Given the description of an element on the screen output the (x, y) to click on. 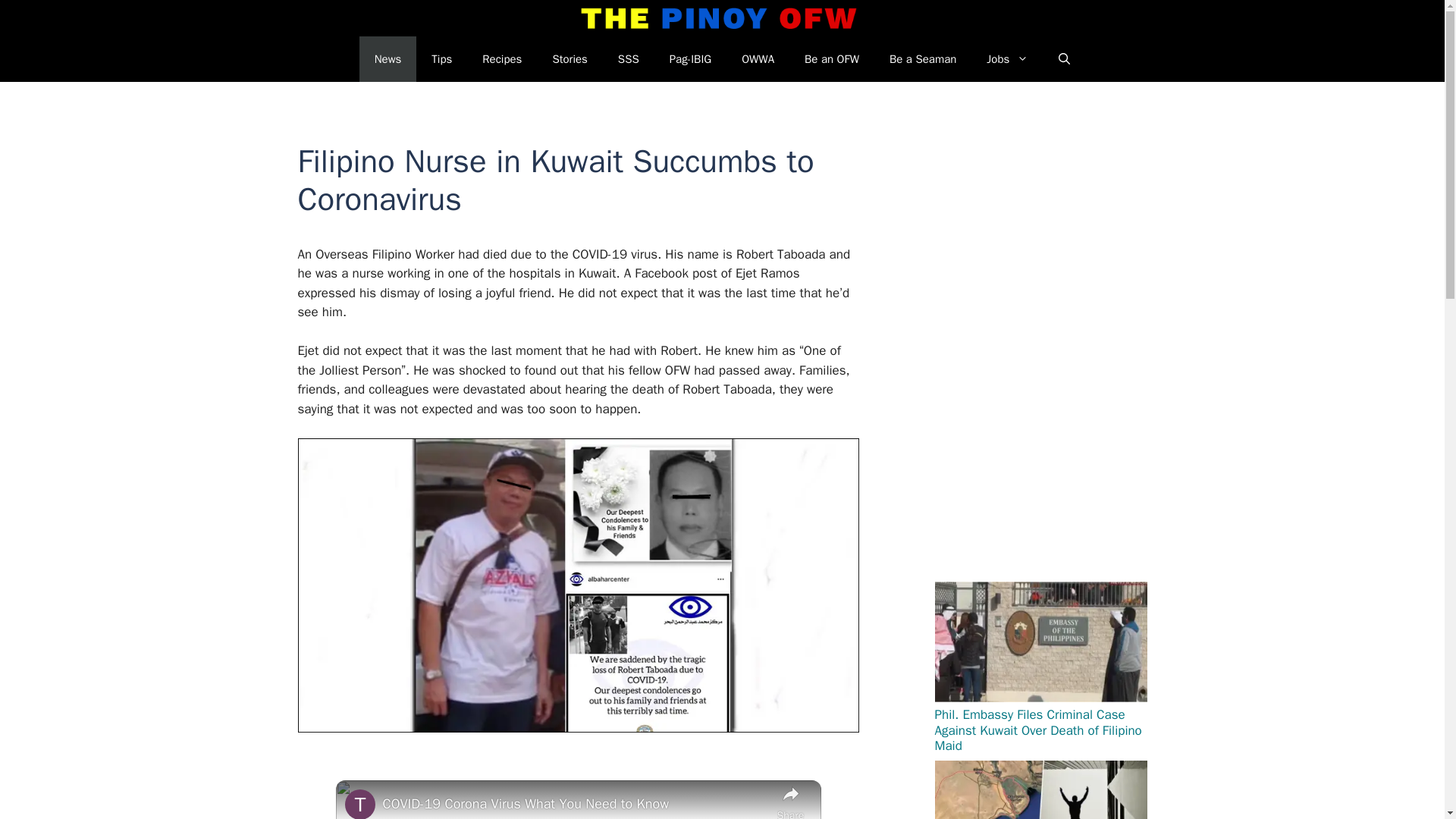
Be an OFW (832, 58)
OWWA (757, 58)
Stories (569, 58)
Tips (441, 58)
News (387, 58)
The Pinoy OFW (718, 18)
Pag-IBIG (689, 58)
Jobs (1007, 58)
Recipes (502, 58)
SSS (627, 58)
Be a Seaman (923, 58)
